Given the description of an element on the screen output the (x, y) to click on. 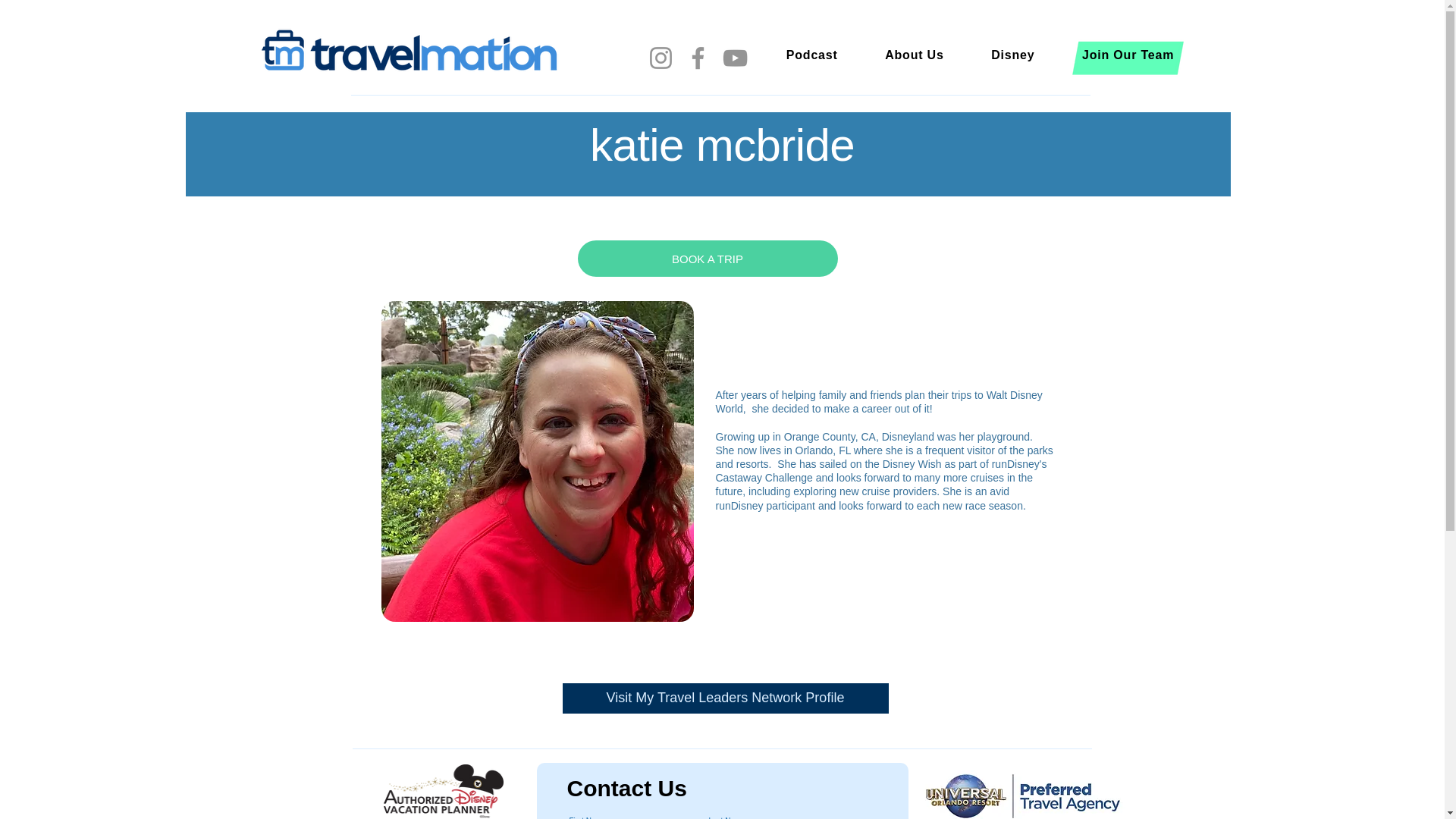
Podcast (812, 54)
Join Our Team (1127, 54)
About Us (914, 54)
Visit My Travel Leaders Network Profile (725, 698)
BOOK A TRIP (708, 258)
